Given the description of an element on the screen output the (x, y) to click on. 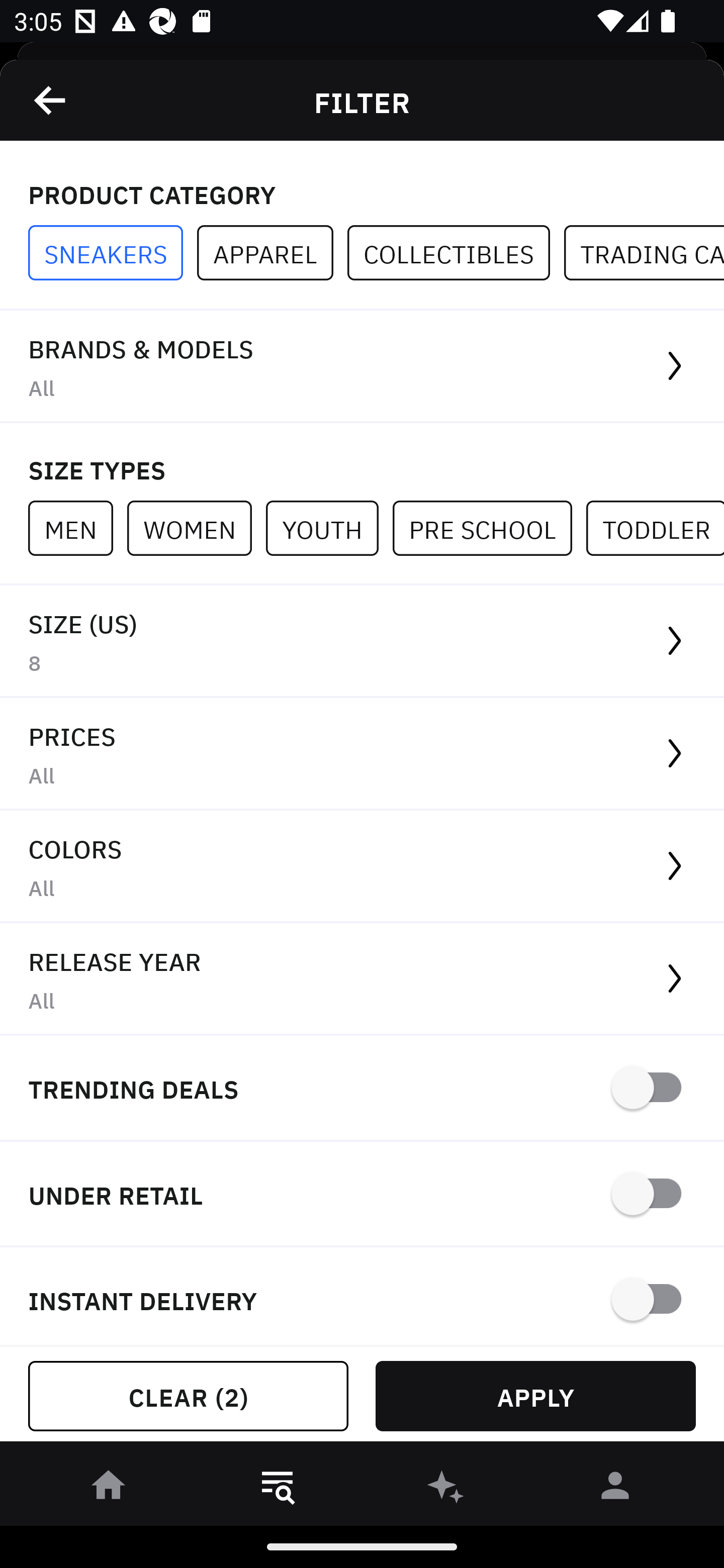
 (50, 100)
SNEAKERS (112, 252)
APPAREL (271, 252)
COLLECTIBLES (455, 252)
TRADING CARDS (643, 252)
BRANDS & MODELS All (362, 366)
MEN (77, 527)
WOMEN (196, 527)
YOUTH (328, 527)
PRE SCHOOL (489, 527)
TODDLER (655, 527)
SIZE (US) 8 (362, 640)
PRICES All (362, 753)
COLORS All (362, 866)
RELEASE YEAR All (362, 979)
TRENDING DEALS (362, 1088)
UNDER RETAIL (362, 1194)
INSTANT DELIVERY (362, 1296)
CLEAR (2) (188, 1396)
APPLY (535, 1396)
󰋜 (108, 1488)
󱎸 (277, 1488)
󰫢 (446, 1488)
󰀄 (615, 1488)
